Given the description of an element on the screen output the (x, y) to click on. 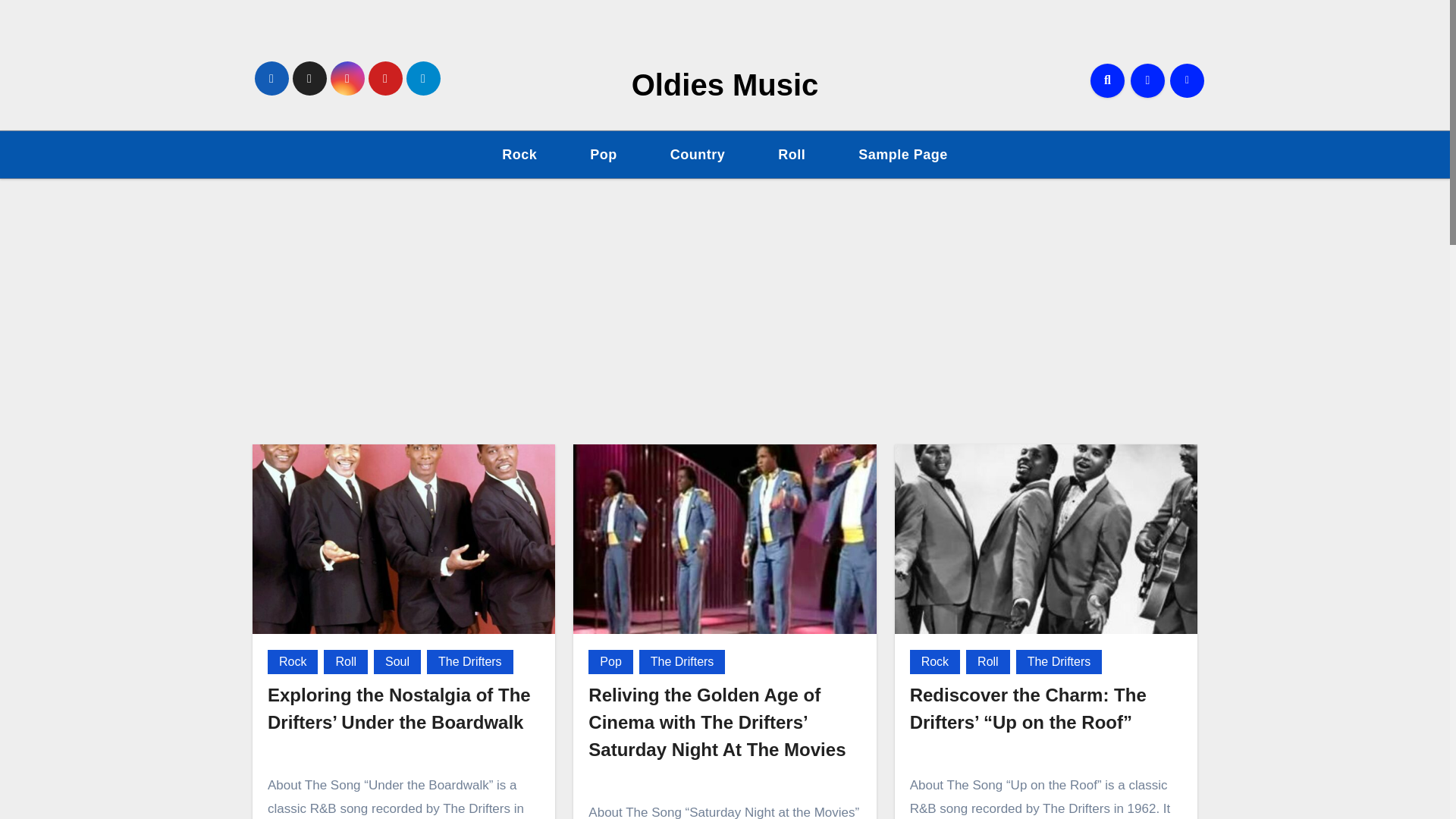
Pop (609, 662)
Country (697, 154)
Roll (791, 154)
The Drifters (1059, 662)
Roll (988, 662)
Country (697, 154)
Sample Page (903, 154)
Rock (934, 662)
Pop (603, 154)
